Given the description of an element on the screen output the (x, y) to click on. 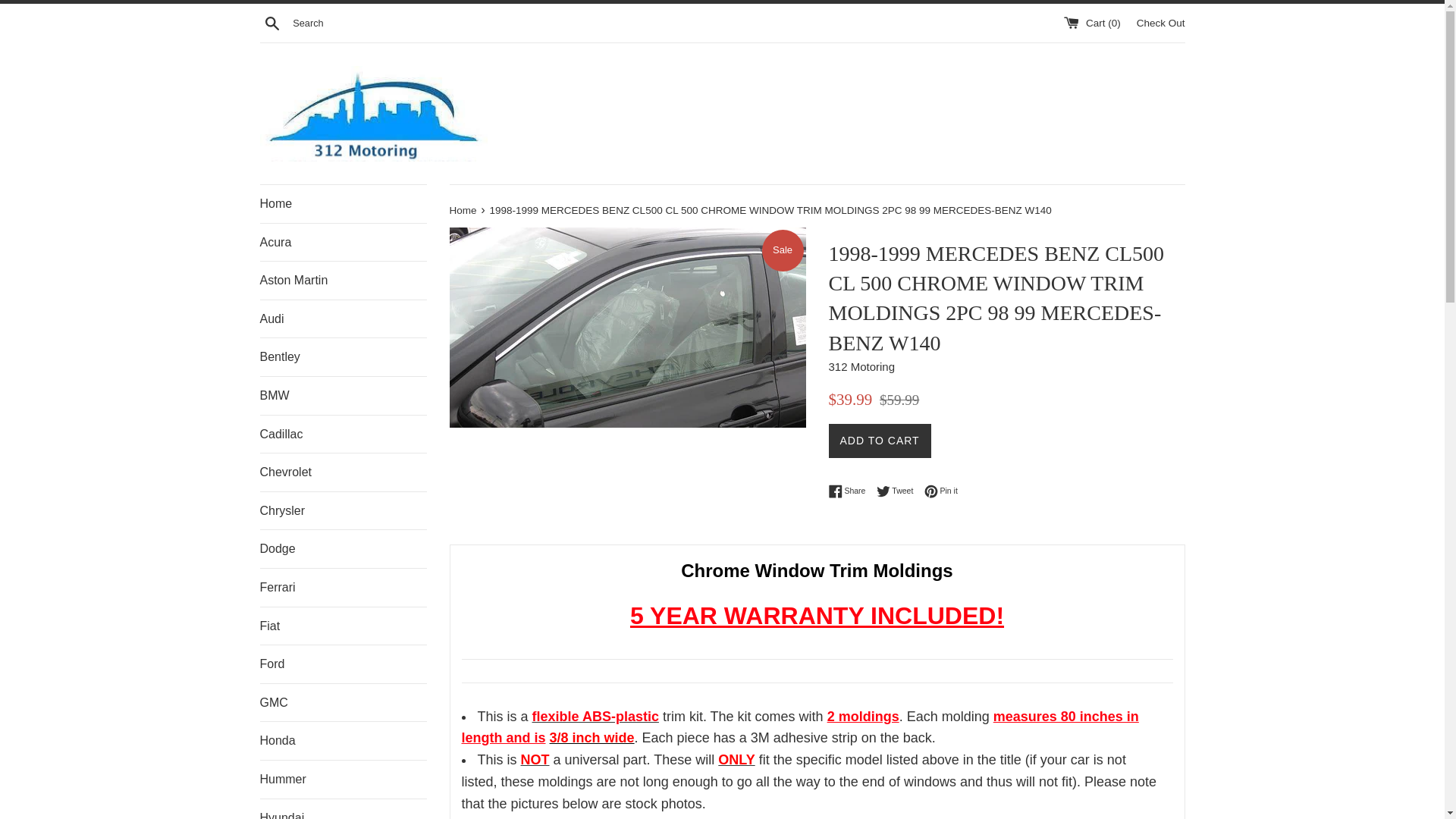
Hummer Element type: text (342, 779)
Tweet
Tweet on Twitter Element type: text (898, 491)
Share
Share on Facebook Element type: text (850, 491)
Home Element type: text (463, 210)
Ferrari Element type: text (342, 587)
Acura Element type: text (342, 242)
Aston Martin Element type: text (342, 280)
Chevrolet Element type: text (342, 472)
GMC Element type: text (342, 702)
Fiat Element type: text (342, 626)
Pin it
Pin on Pinterest Element type: text (940, 491)
Cadillac Element type: text (342, 434)
Bentley Element type: text (342, 357)
Home Element type: text (342, 203)
ADD TO CART Element type: text (879, 440)
Ford Element type: text (342, 664)
Chrysler Element type: text (342, 511)
Honda Element type: text (342, 740)
Audi Element type: text (342, 319)
Dodge Element type: text (342, 548)
Check Out Element type: text (1160, 22)
Cart (0) Element type: text (1093, 22)
BMW Element type: text (342, 395)
Search Element type: text (271, 21)
